Given the description of an element on the screen output the (x, y) to click on. 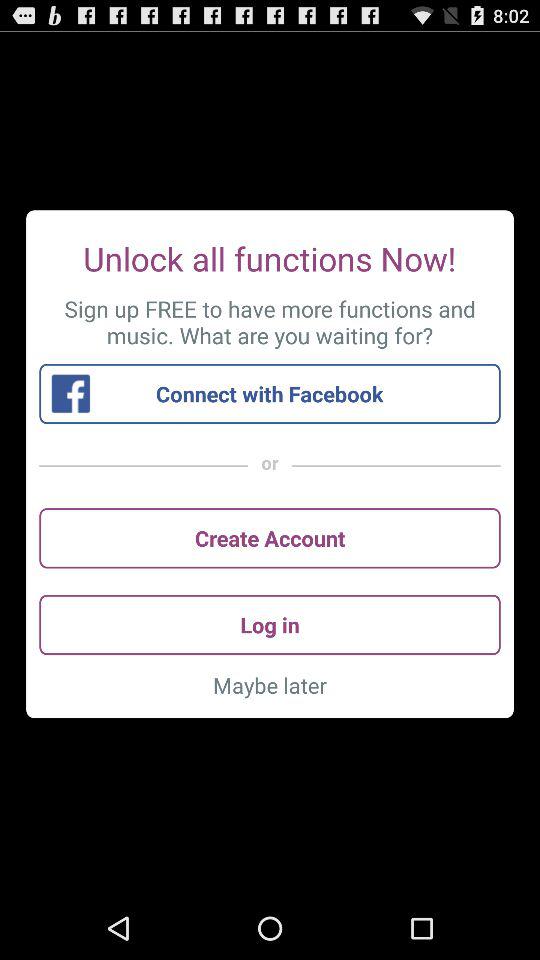
swipe until the log in icon (269, 624)
